Given the description of an element on the screen output the (x, y) to click on. 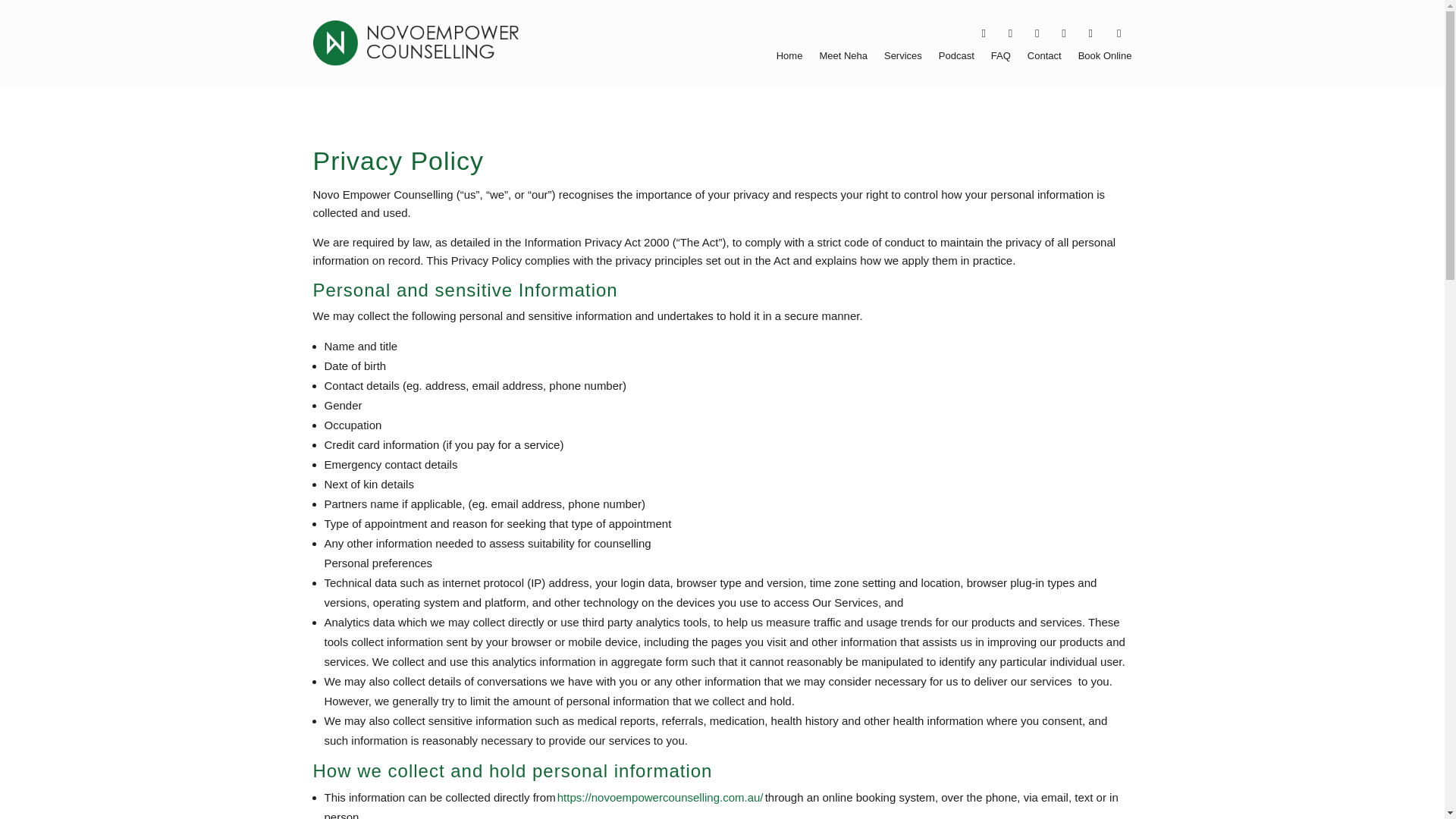
Services (902, 58)
Contact (1044, 58)
Book Online (1105, 58)
Podcast (956, 58)
Home (789, 58)
Meet Neha (842, 58)
Novo Empower Counselling Logo (415, 43)
FAQ (1000, 58)
